Given the description of an element on the screen output the (x, y) to click on. 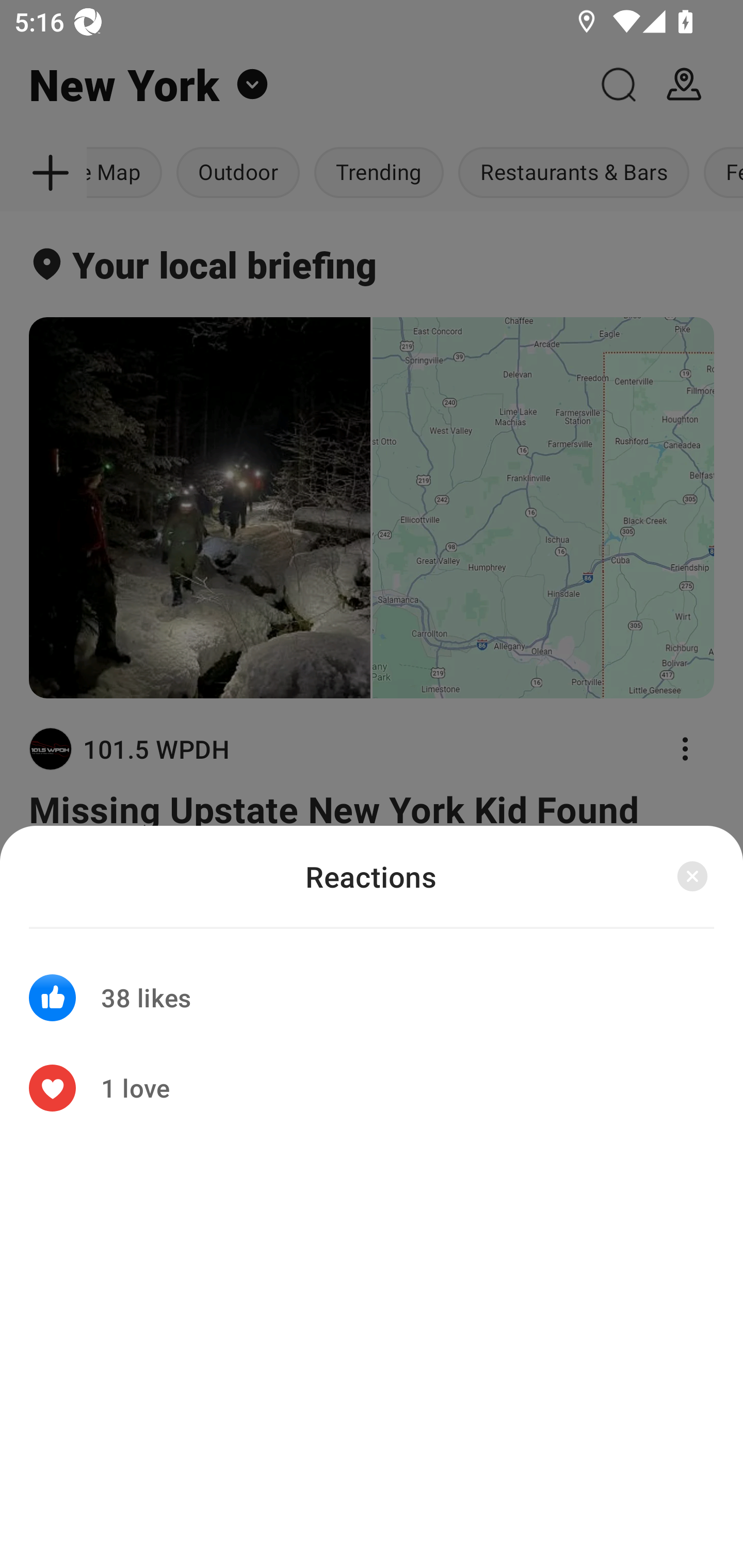
38 likes (371, 985)
1 love (371, 1087)
